Given the description of an element on the screen output the (x, y) to click on. 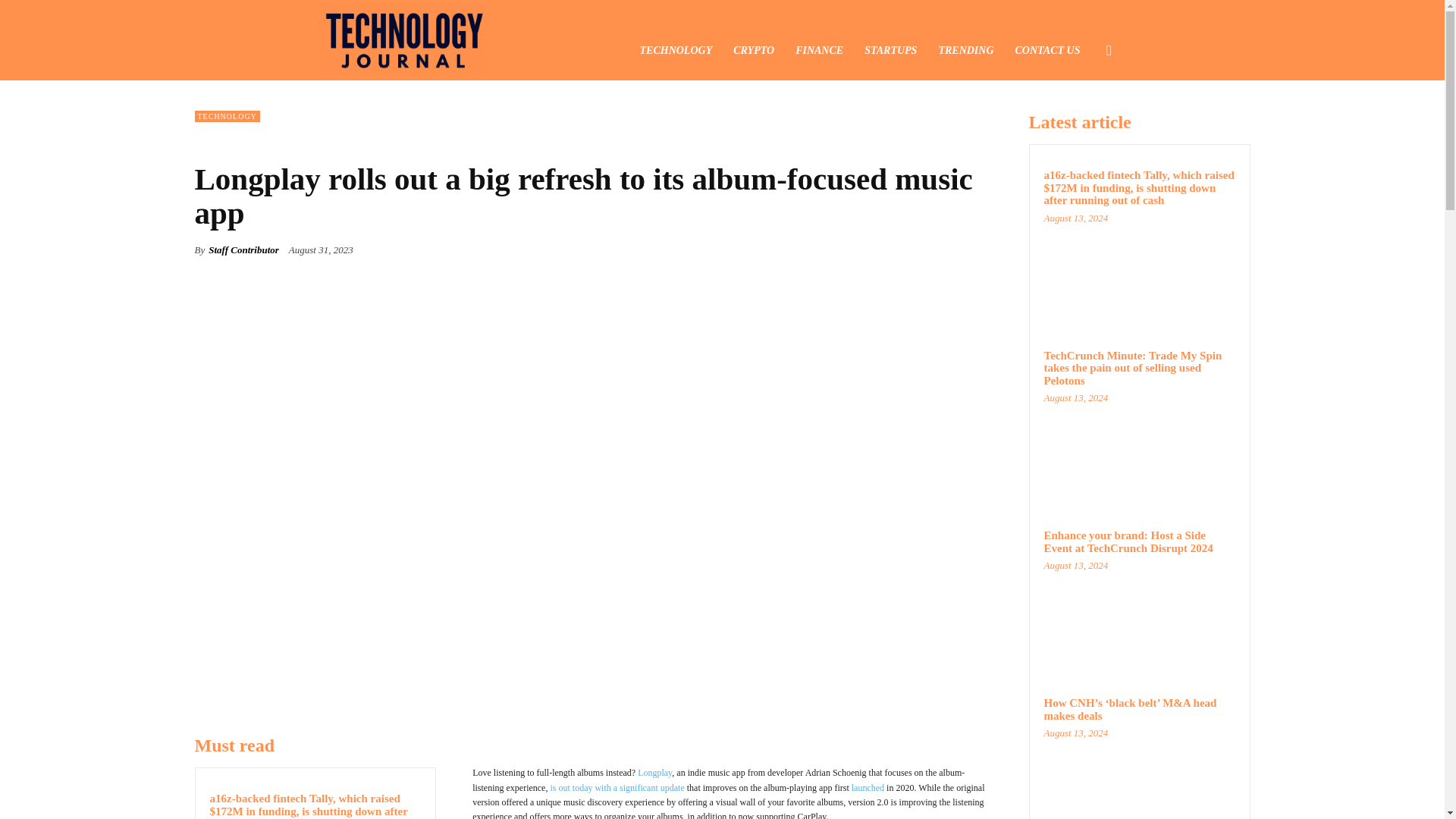
Technology Journal Mag (403, 39)
FINANCE (818, 50)
CRYPTO (753, 50)
TECHNOLOGY (226, 116)
TECHNOLOGY (675, 50)
CONTACT US (1047, 50)
Search (1085, 122)
TRENDING (965, 50)
Staff Contributor (243, 249)
Longplay (654, 772)
